Given the description of an element on the screen output the (x, y) to click on. 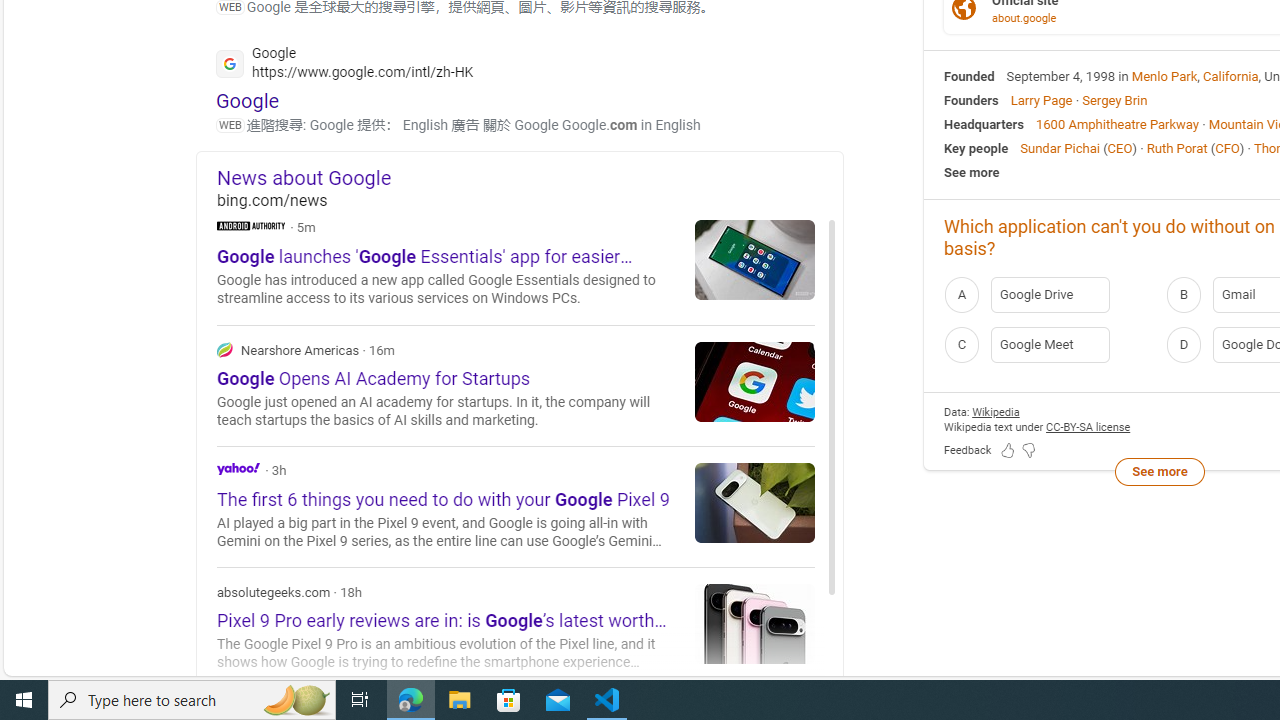
Key people (976, 147)
C Google Meet (1049, 344)
Data attribution Wikipedia (995, 411)
Feedback Dislike (1028, 450)
absolutegeeks.com (516, 627)
A Google Drive (1049, 294)
CFO (1227, 147)
